Given the description of an element on the screen output the (x, y) to click on. 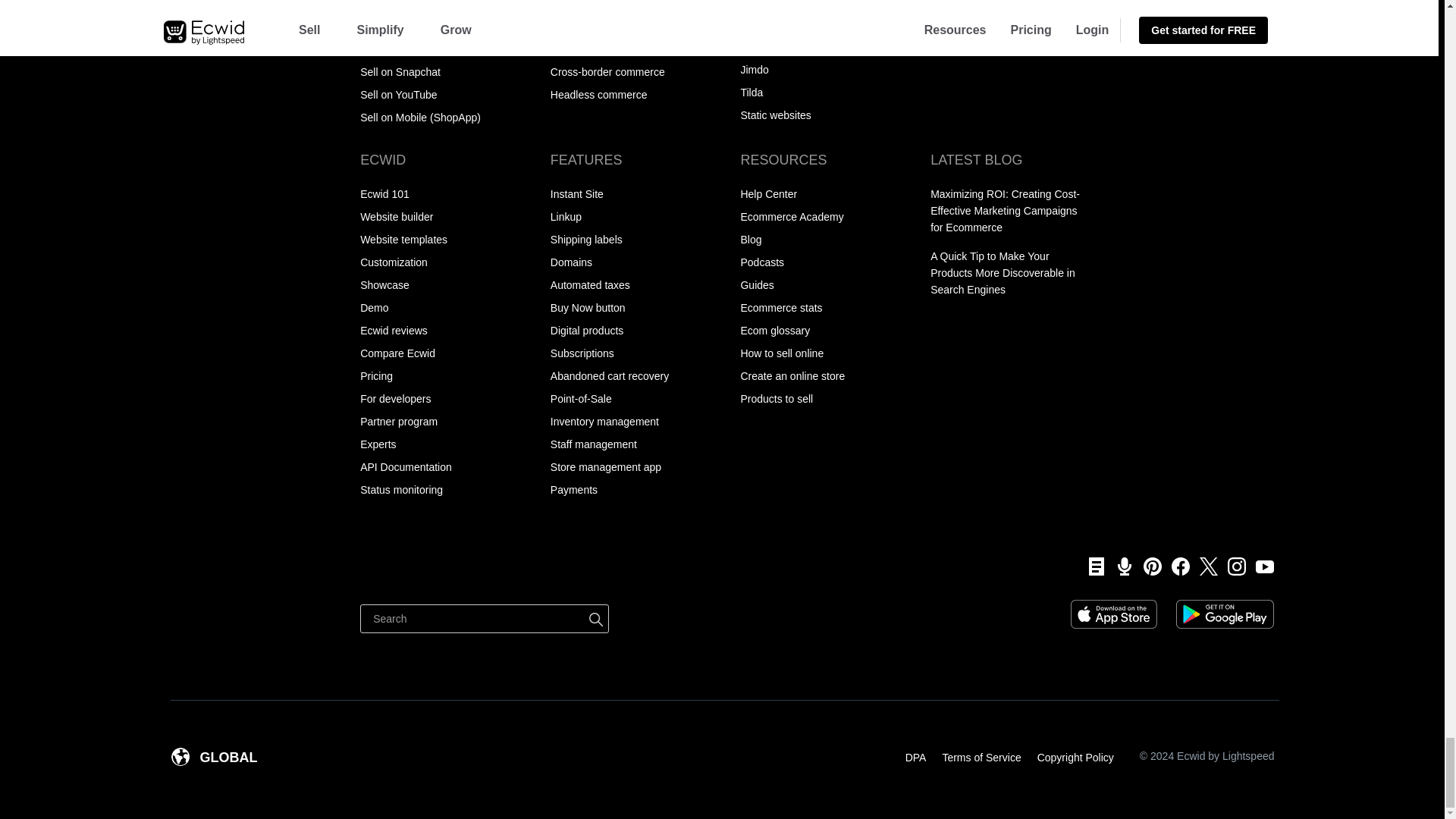
Ecwid podcast (1119, 566)
Twitter (1203, 566)
Ecwid blog (1091, 566)
Pinterest (1147, 566)
Facebook (1175, 566)
Youtube (1260, 566)
Search (483, 618)
Instagram (1231, 566)
